Given the description of an element on the screen output the (x, y) to click on. 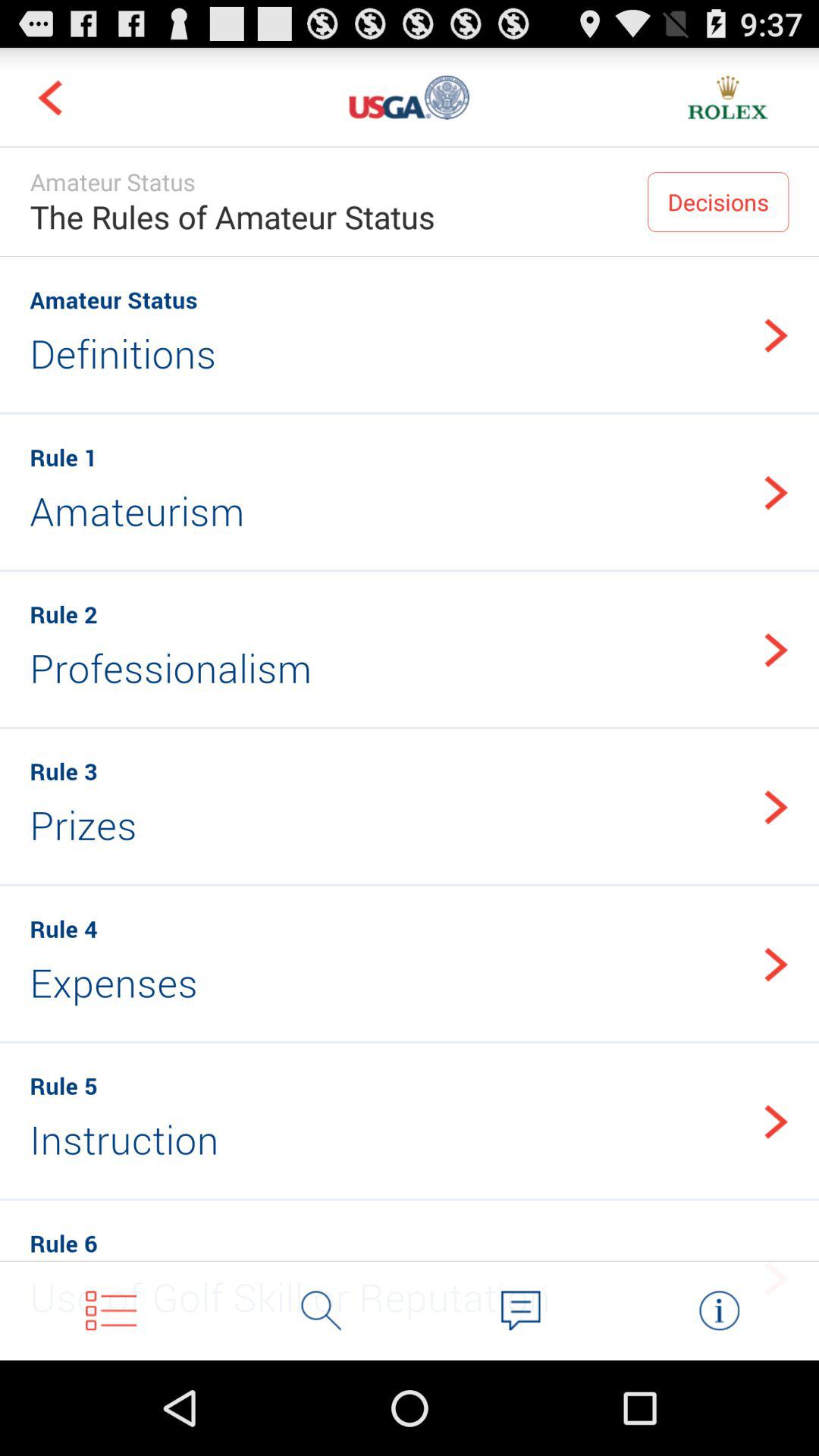
zoom in (321, 1310)
